Given the description of an element on the screen output the (x, y) to click on. 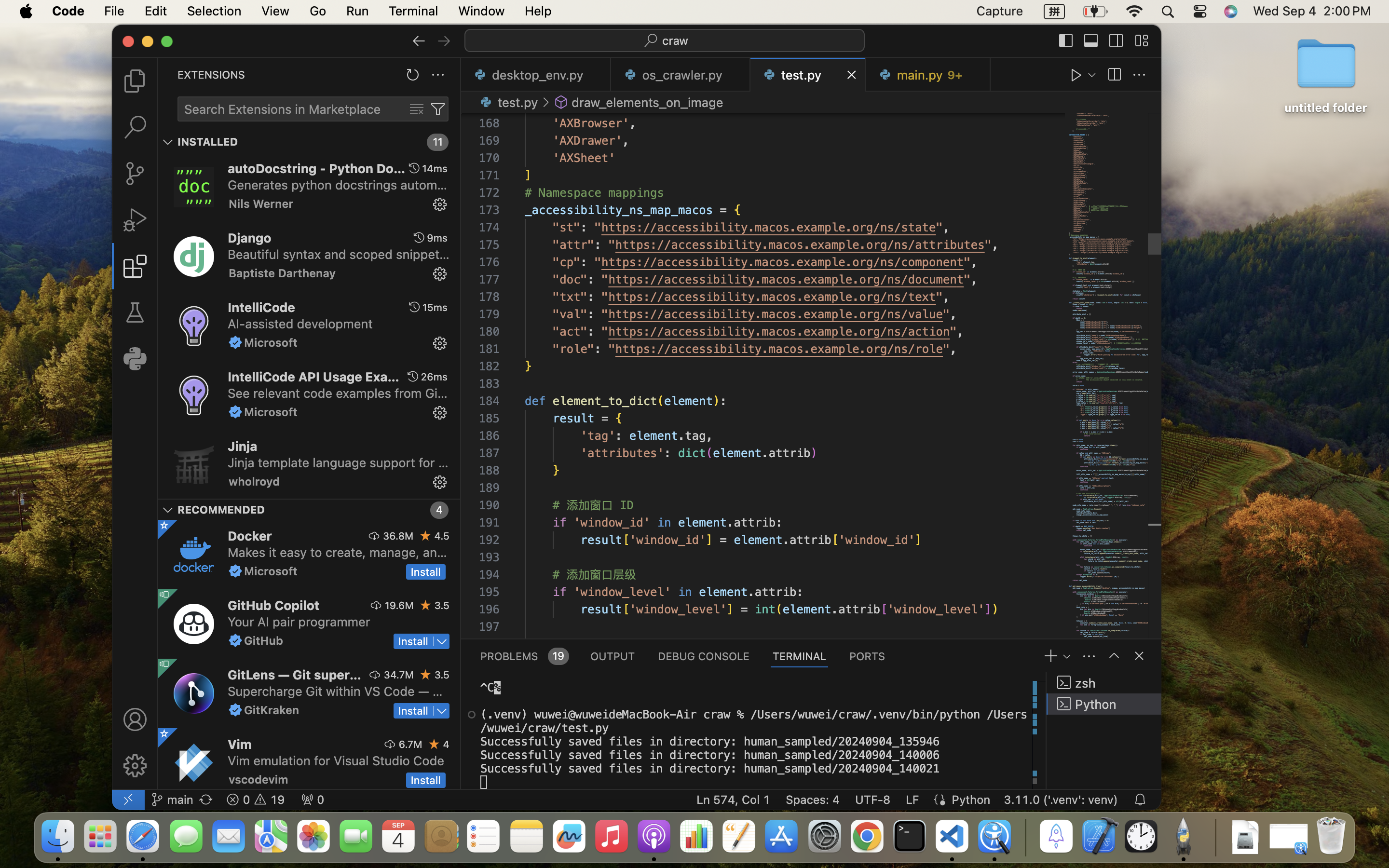
main  Element type: AXButton (171, 799)
0 Element type: AXRadioButton (134, 358)
 Element type: AXGroup (134, 219)
Generates python docstrings automatically Element type: AXStaticText (337, 184)
 Element type: AXGroup (134, 312)
